Given the description of an element on the screen output the (x, y) to click on. 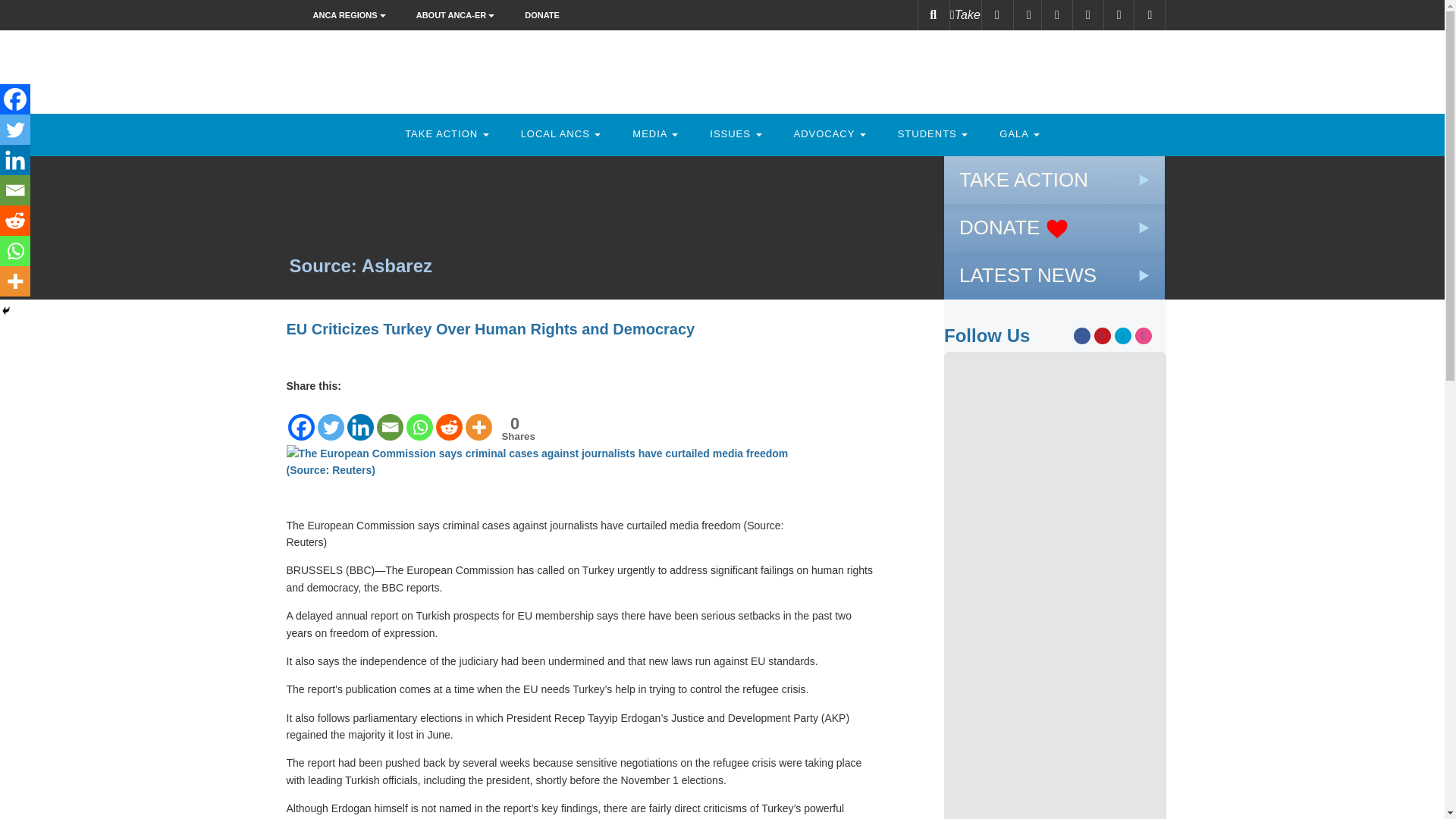
ABOUT ANCA-ER (458, 15)
Donate (541, 15)
ISSUES (735, 134)
LOCAL ANCS (560, 134)
Take action (964, 15)
MEDIA (655, 134)
DONATE (541, 15)
ANCA Regions (352, 15)
ANCA REGIONS (352, 15)
Local ANCs (560, 134)
About ANCA-ER (458, 15)
Take Action (446, 134)
TAKE ACTION (446, 134)
